Given the description of an element on the screen output the (x, y) to click on. 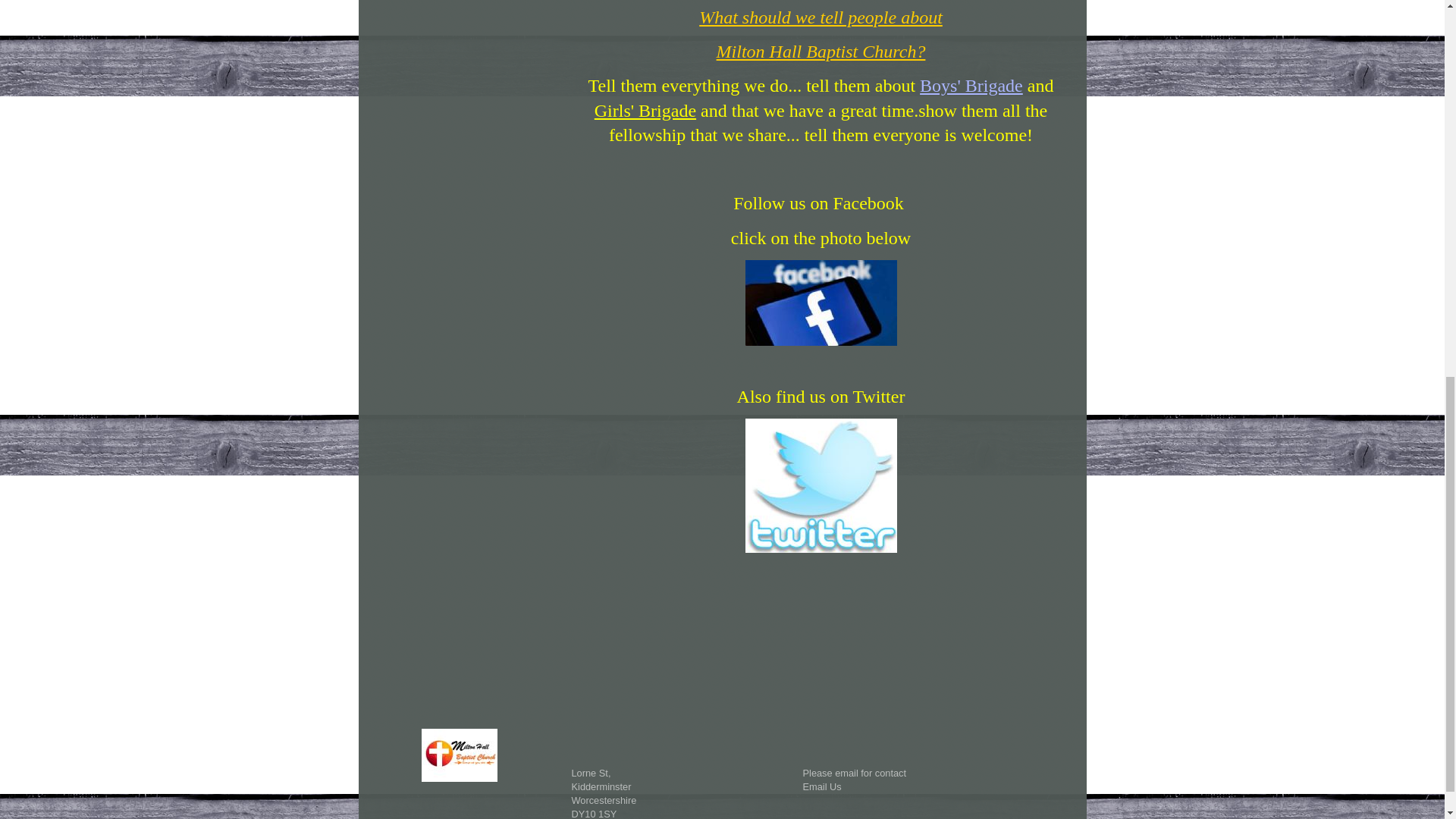
Twitter (820, 485)
Facebook (820, 302)
Girls' Brigade (644, 110)
Boys' Brigade (971, 85)
Email Us (821, 786)
